Given the description of an element on the screen output the (x, y) to click on. 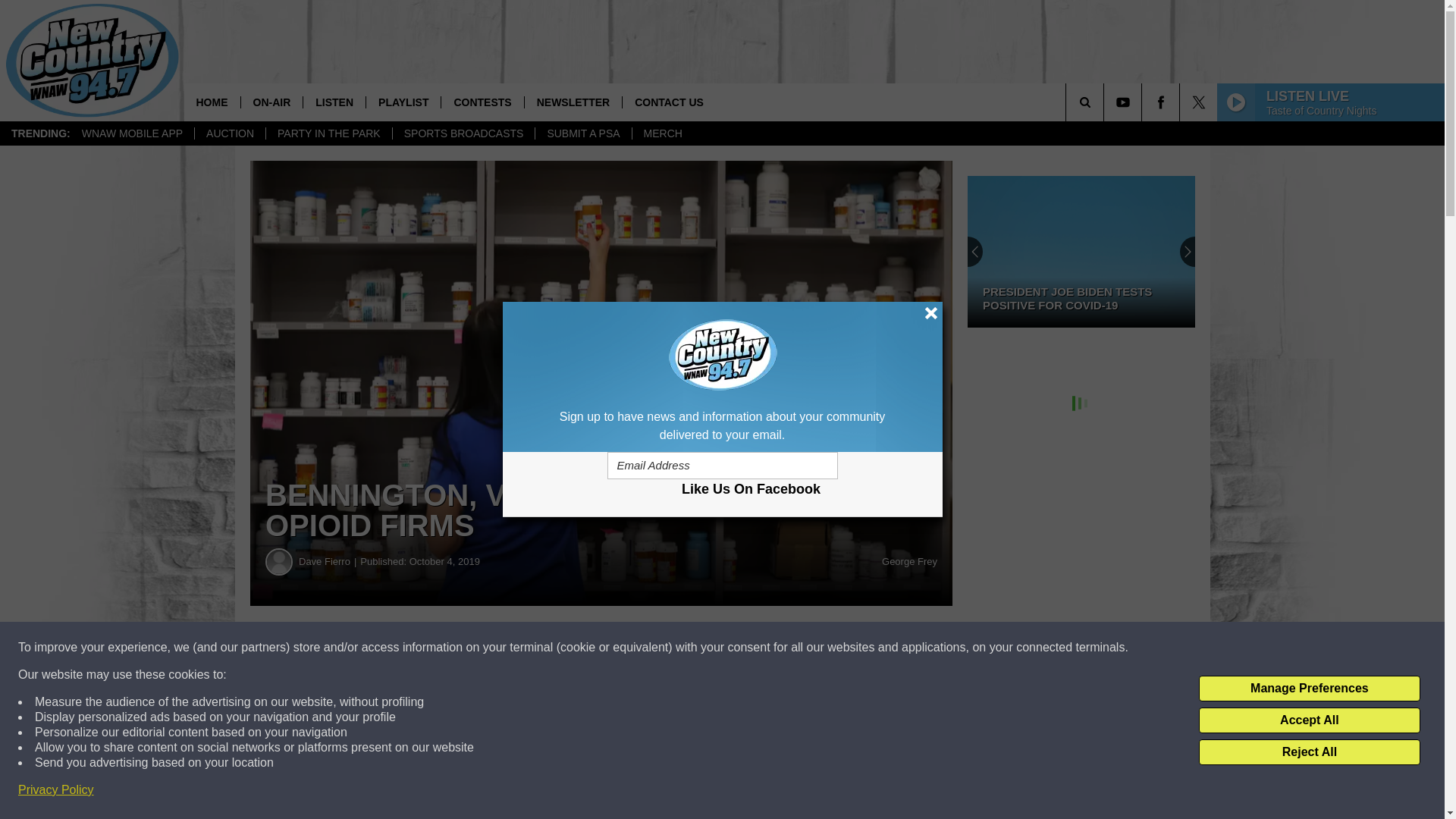
SEARCH (1106, 102)
Share on Twitter (741, 647)
SUBMIT A PSA (582, 133)
HOME (211, 102)
Privacy Policy (55, 789)
PARTY IN THE PARK (327, 133)
Reject All (1309, 751)
PLAYLIST (403, 102)
SEARCH (1106, 102)
SPORTS BROADCASTS (463, 133)
LISTEN (333, 102)
WNAW MOBILE APP (131, 133)
Accept All (1309, 720)
AUCTION (228, 133)
Email Address (722, 465)
